Given the description of an element on the screen output the (x, y) to click on. 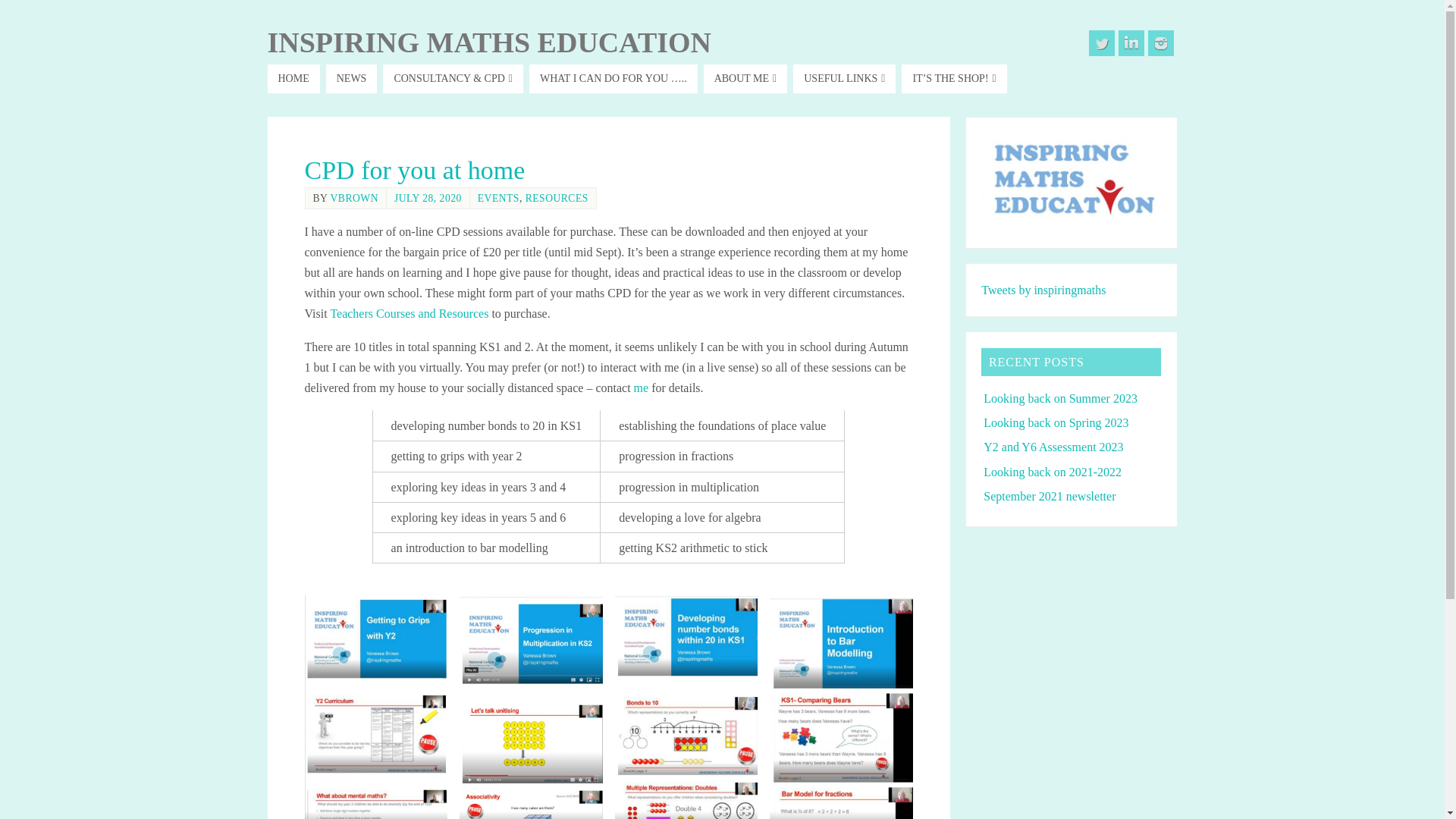
EVENTS (498, 197)
View all posts by vbrown (354, 197)
Looking back on 2021-2022 (1052, 472)
Teachers Courses and Resources (408, 313)
INSPIRING MATHS EDUCATION (488, 42)
September 2021 newsletter (1049, 495)
Looking back on Summer 2023 (1060, 398)
HOME (292, 78)
JULY 28, 2020 (427, 197)
Inspiring Maths Education (488, 42)
Looking back on Spring 2023 (1056, 422)
VBROWN (354, 197)
USEFUL LINKS (844, 78)
me (641, 387)
RESOURCES (556, 197)
